Given the description of an element on the screen output the (x, y) to click on. 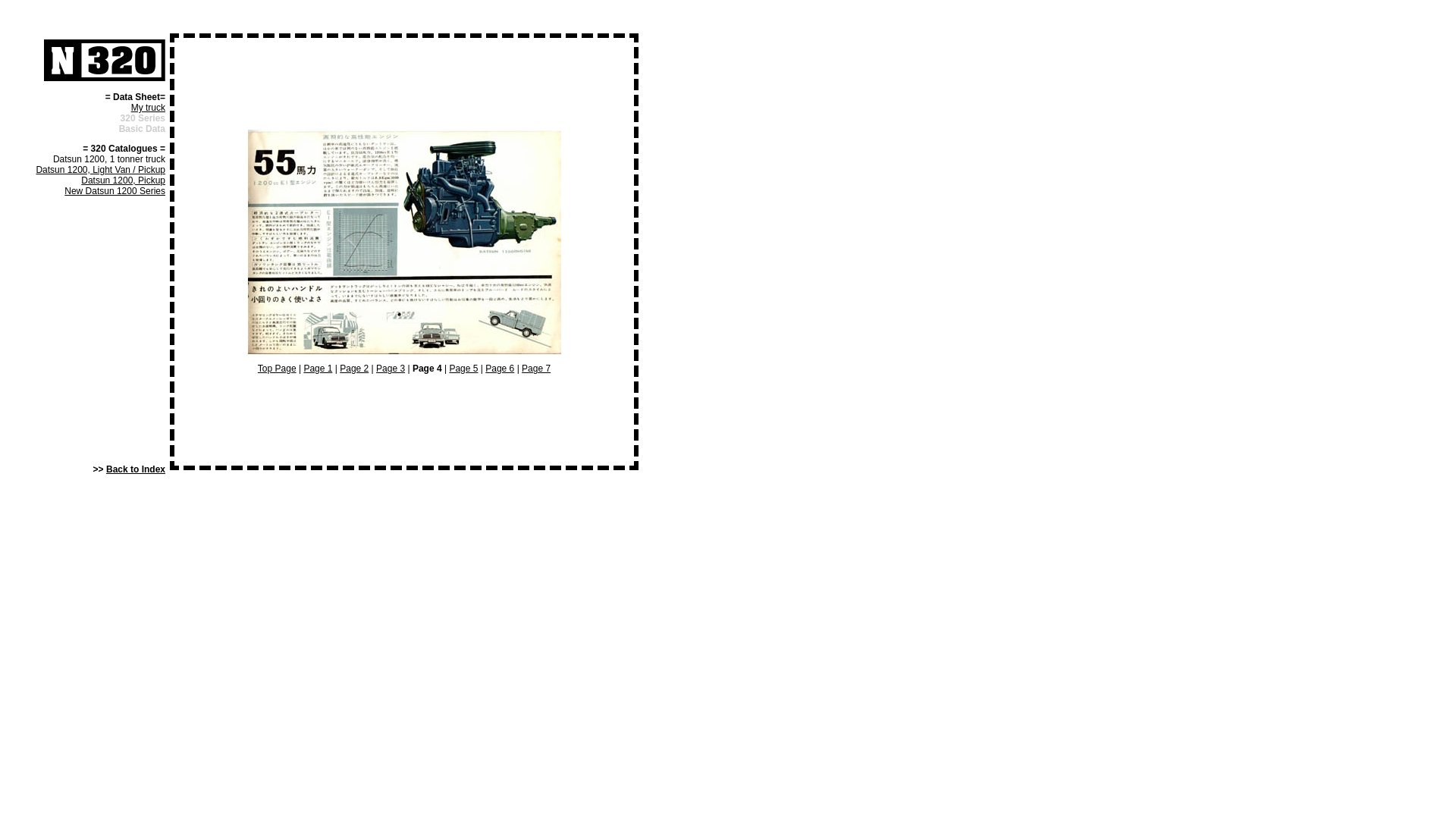
Page 3 Element type: text (390, 368)
New Datsun 1200 Series Element type: text (114, 190)
Top Page Element type: text (276, 368)
Back to Index Element type: text (135, 469)
Page 7 Element type: text (535, 368)
Page 2 Element type: text (353, 368)
Page 1 Element type: text (317, 368)
Page 5 Element type: text (462, 368)
My truck Element type: text (148, 107)
Datsun 1200, Pickup Element type: text (123, 180)
Page 6 Element type: text (499, 368)
Datsun 1200, Light Van / Pickup Element type: text (100, 169)
